Given the description of an element on the screen output the (x, y) to click on. 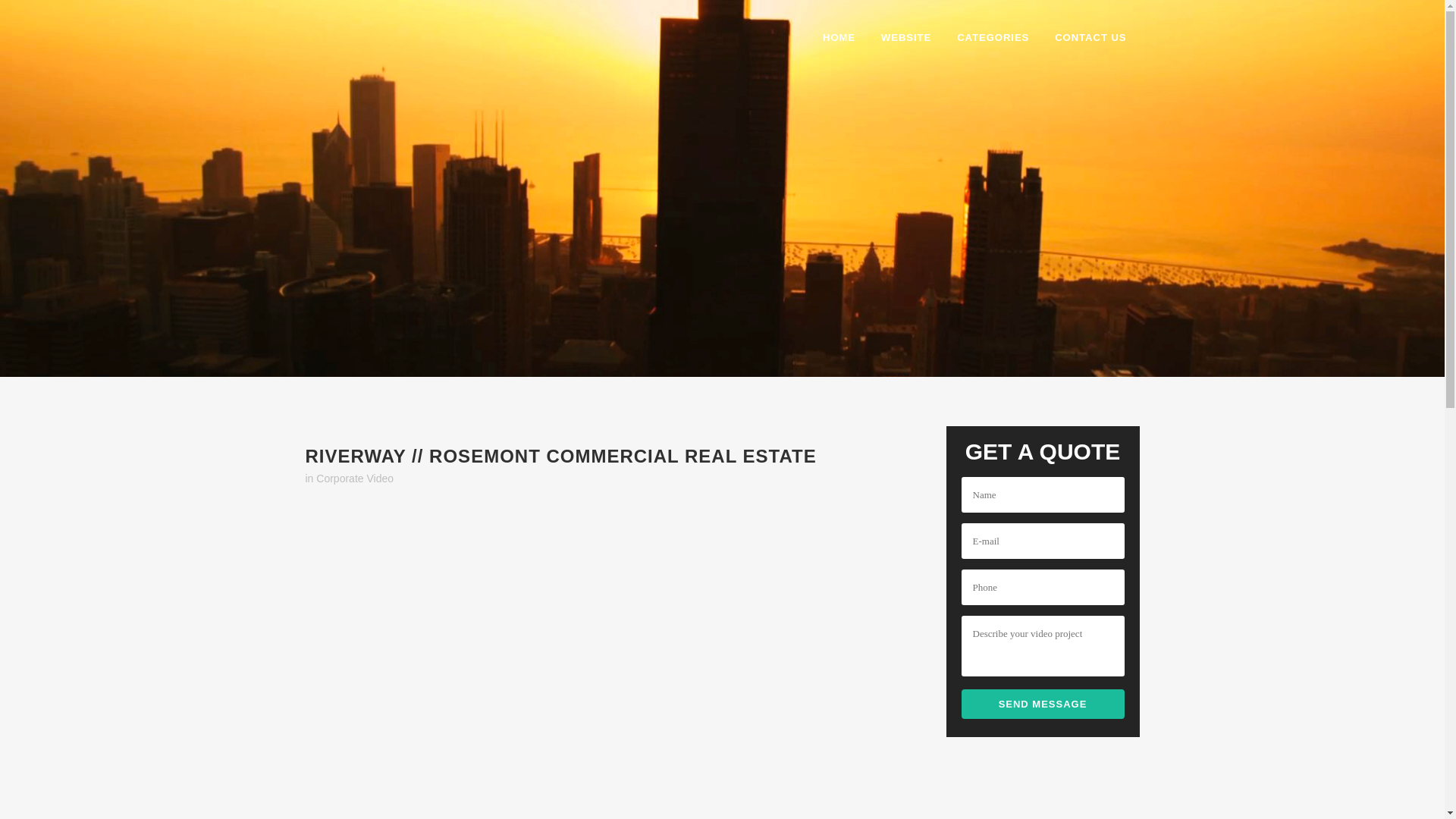
WEBSITE (905, 38)
CATEGORIES (992, 38)
CONTACT US (1090, 38)
Send Message (1042, 704)
Corporate Video (354, 478)
